Given the description of an element on the screen output the (x, y) to click on. 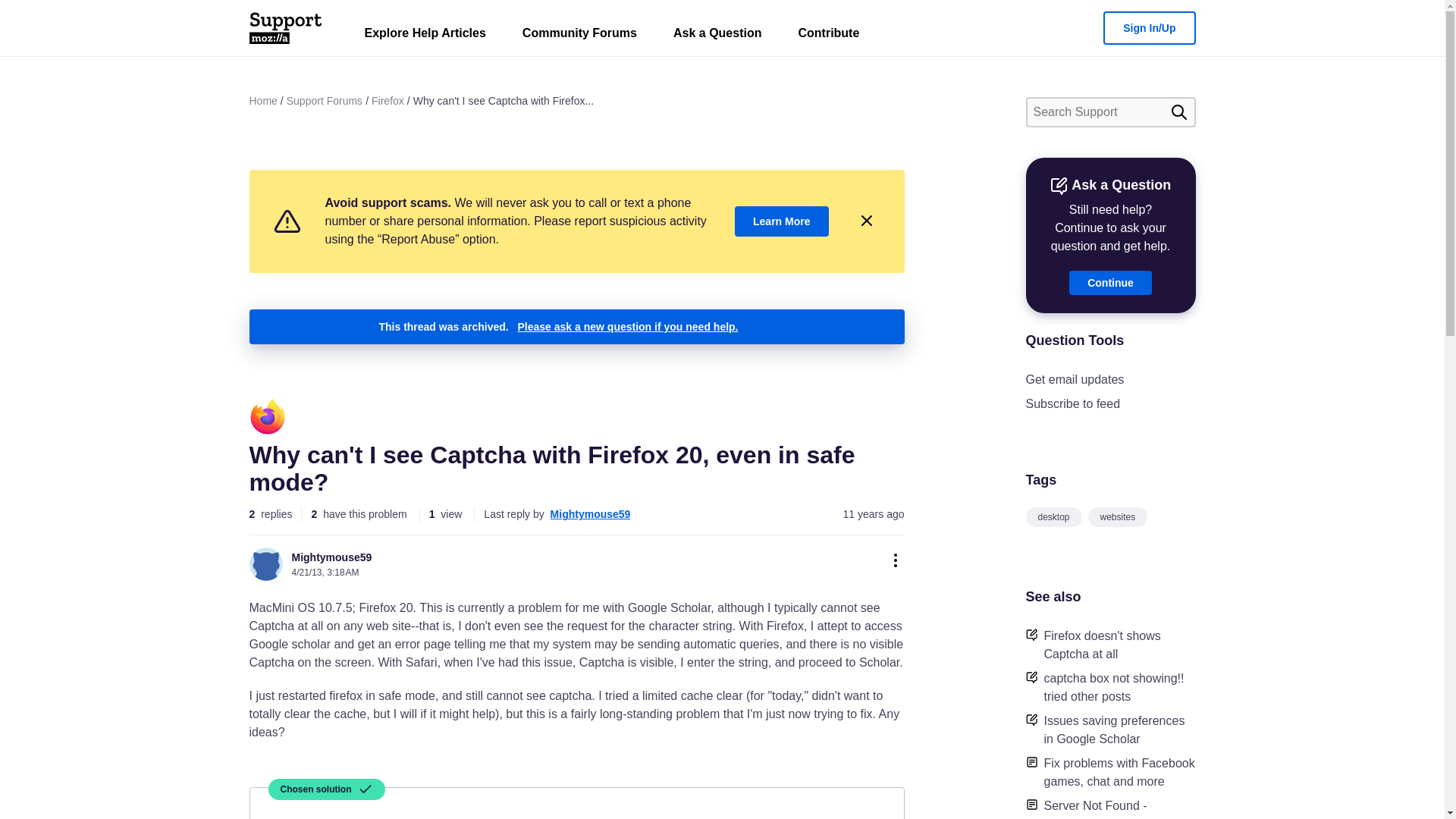
Community Forums (579, 37)
Search (1178, 111)
Ask a Question (716, 37)
Explore Help Articles (424, 37)
